Given the description of an element on the screen output the (x, y) to click on. 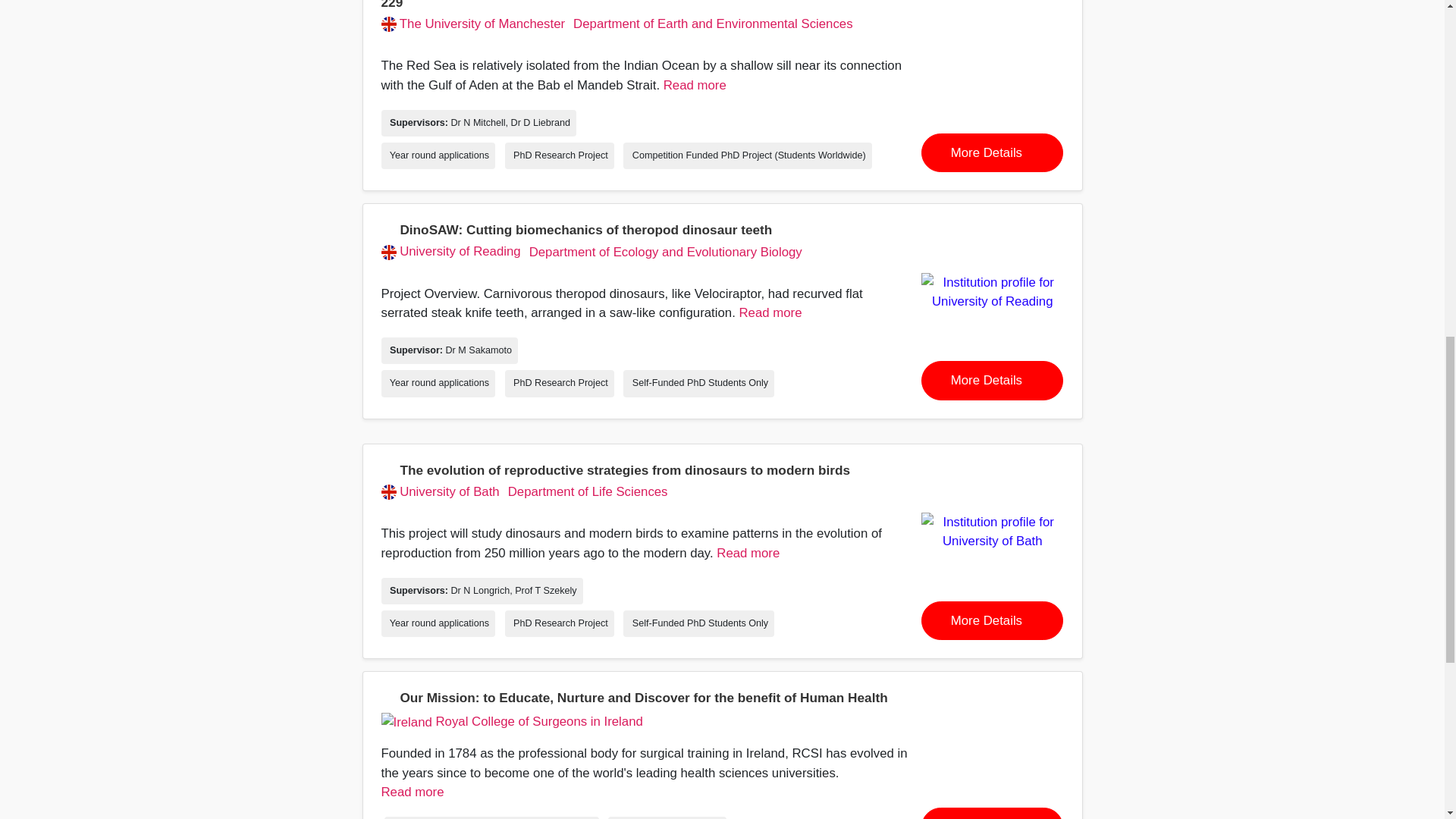
PhD Opportunities at The University of Manchester (472, 24)
United Kingdom (388, 23)
